Given the description of an element on the screen output the (x, y) to click on. 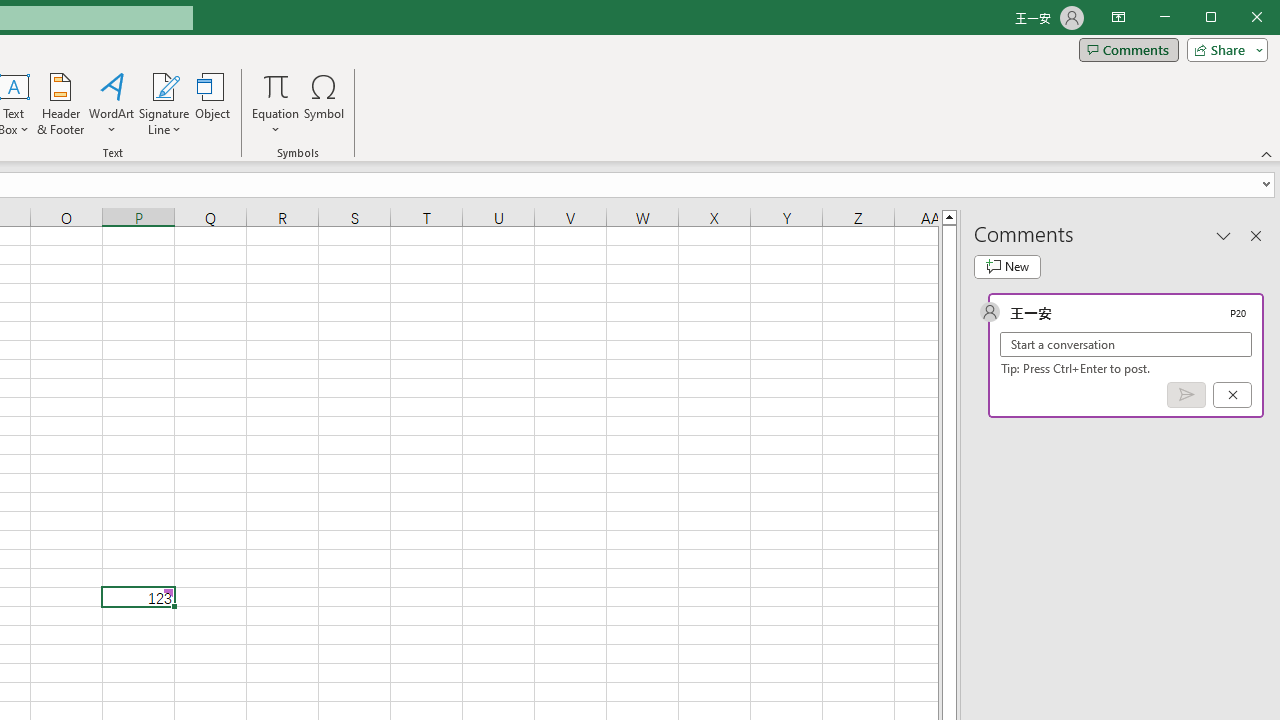
New comment (1007, 266)
Post comment (Ctrl + Enter) (1186, 395)
Symbol... (324, 104)
Cancel (1232, 395)
Signature Line (164, 86)
WordArt (111, 104)
